Given the description of an element on the screen output the (x, y) to click on. 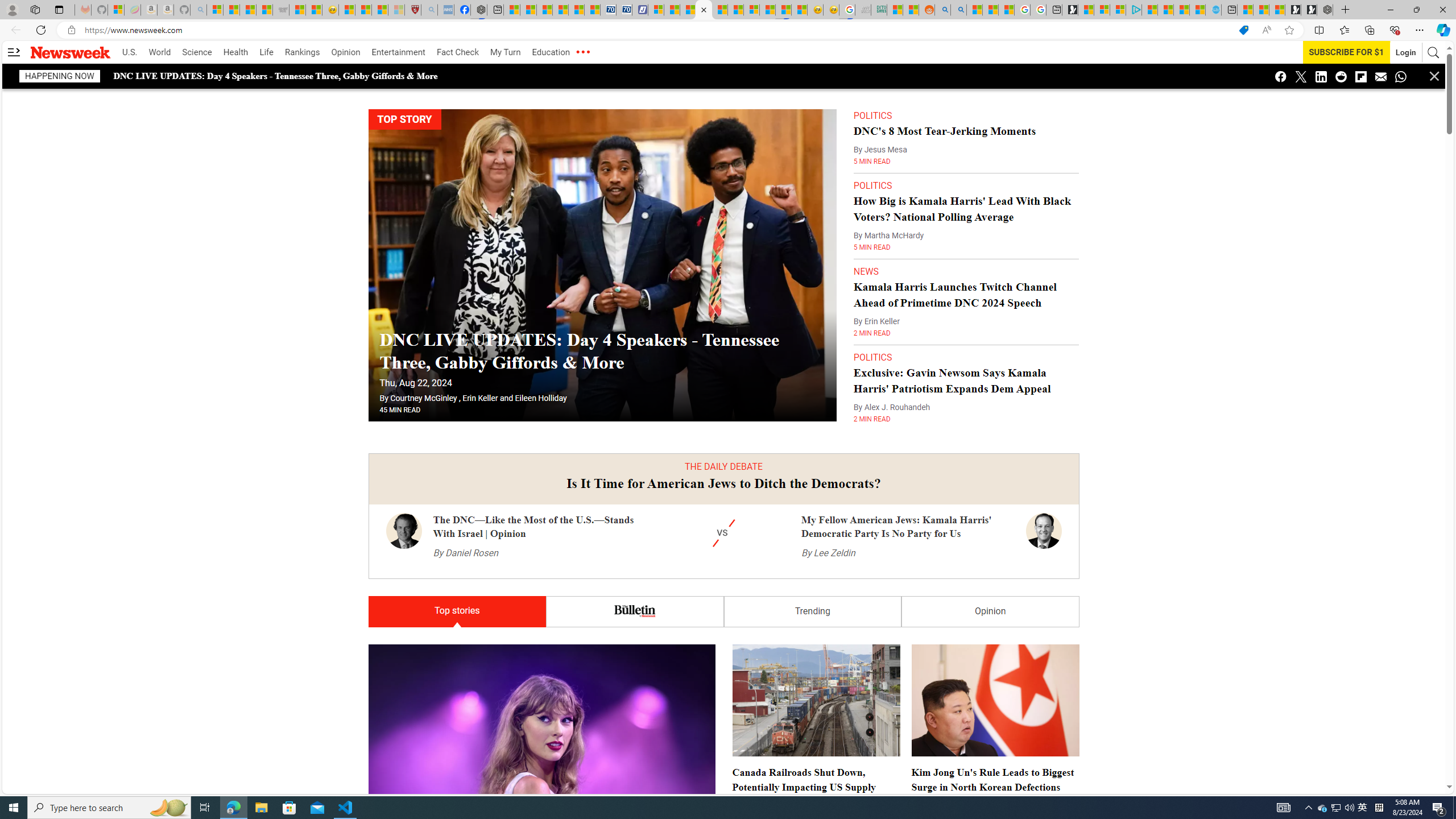
Class: icon-whatsapp (1400, 75)
Opinion (345, 52)
Trending (812, 611)
Health (235, 52)
Science (197, 52)
Newsweek logo (70, 51)
Microsoft account | Privacy (1118, 9)
U.S. (129, 52)
Education (550, 52)
